Given the description of an element on the screen output the (x, y) to click on. 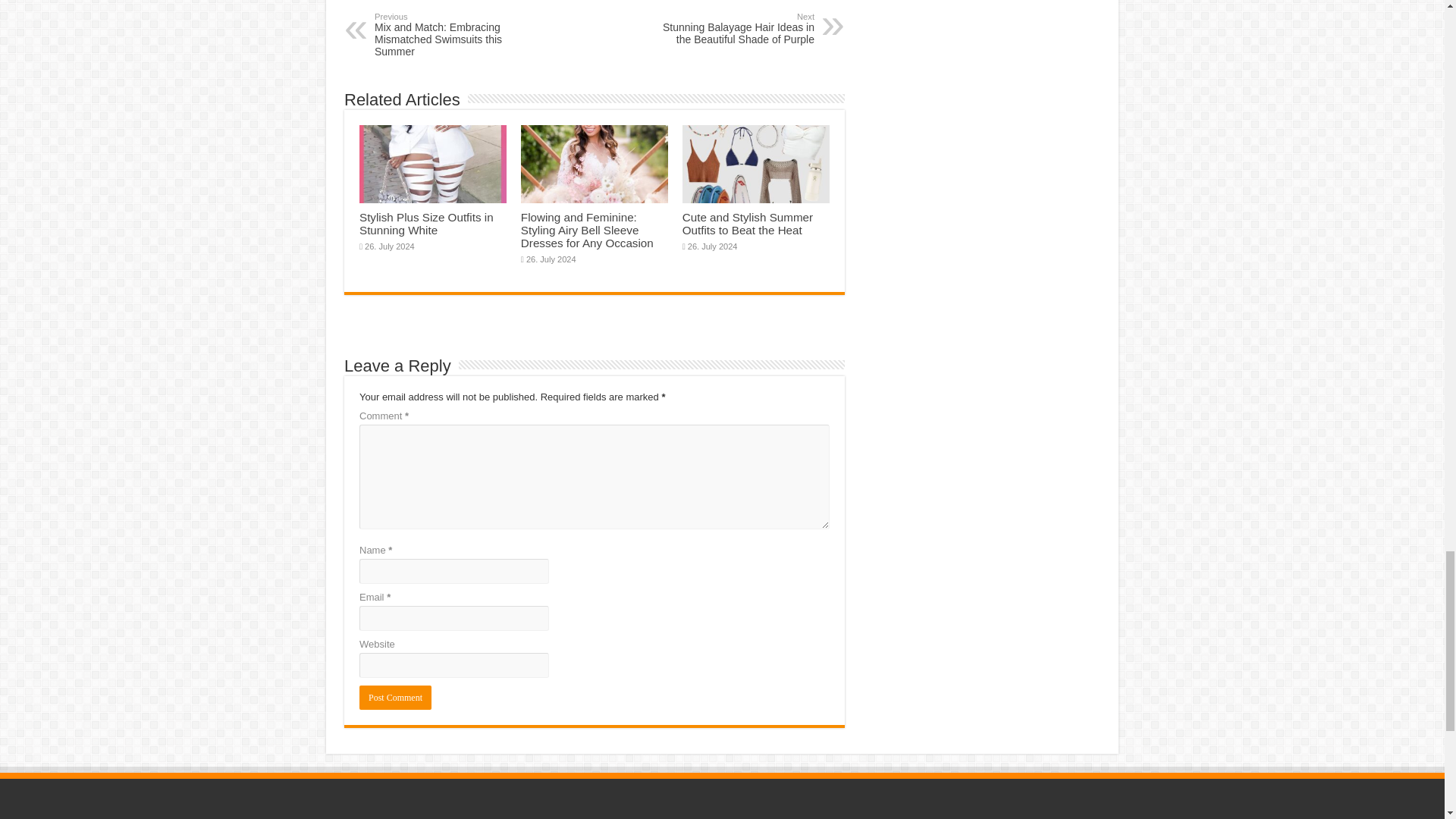
Stylish Plus Size Outfits in Stunning White (426, 223)
Cute and Stylish Summer Outfits to Beat the Heat (747, 223)
Post Comment (394, 697)
Post Comment (394, 697)
